Given the description of an element on the screen output the (x, y) to click on. 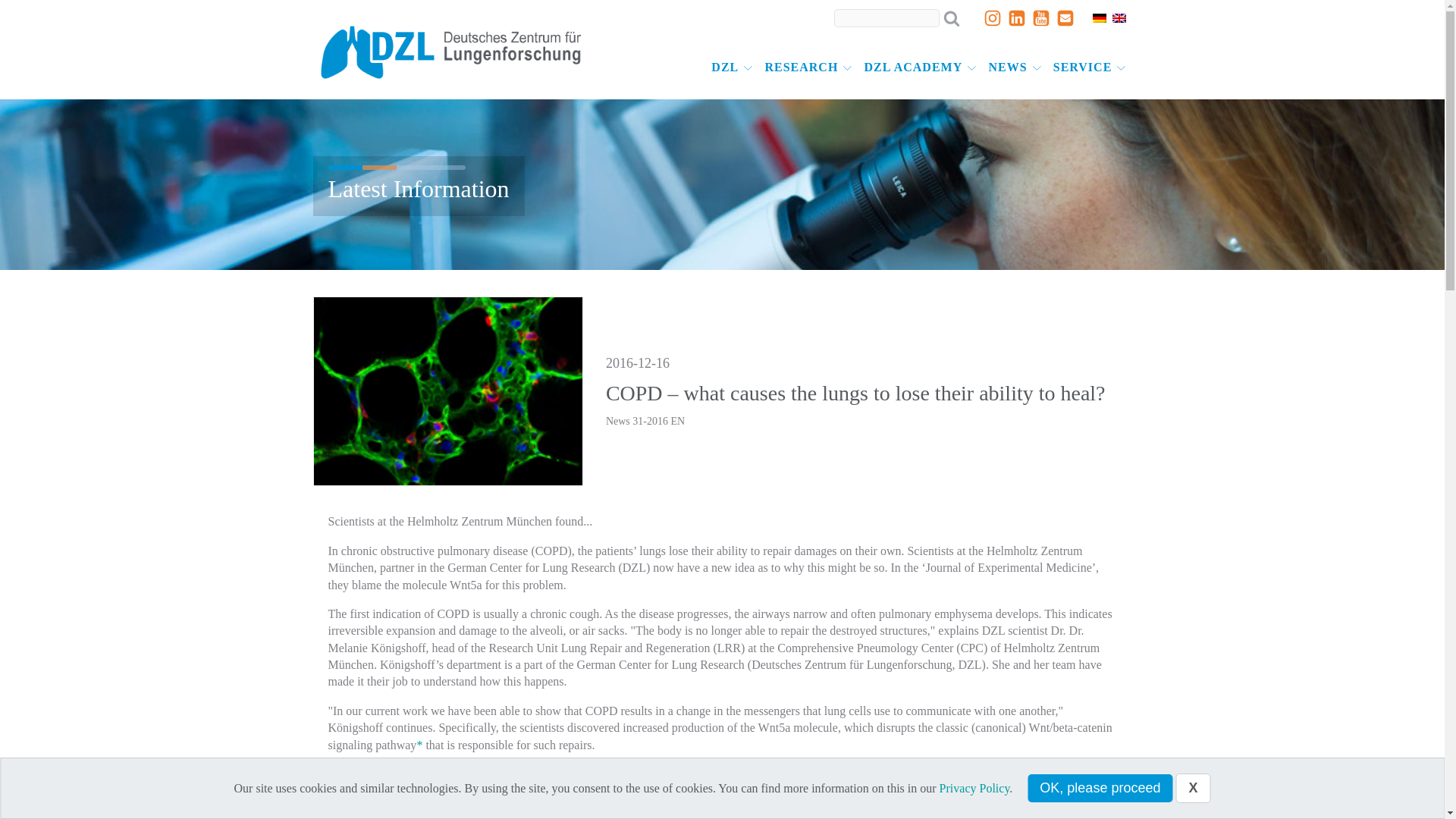
Search (19, 9)
DZL (731, 67)
RESEARCH (807, 67)
